Given the description of an element on the screen output the (x, y) to click on. 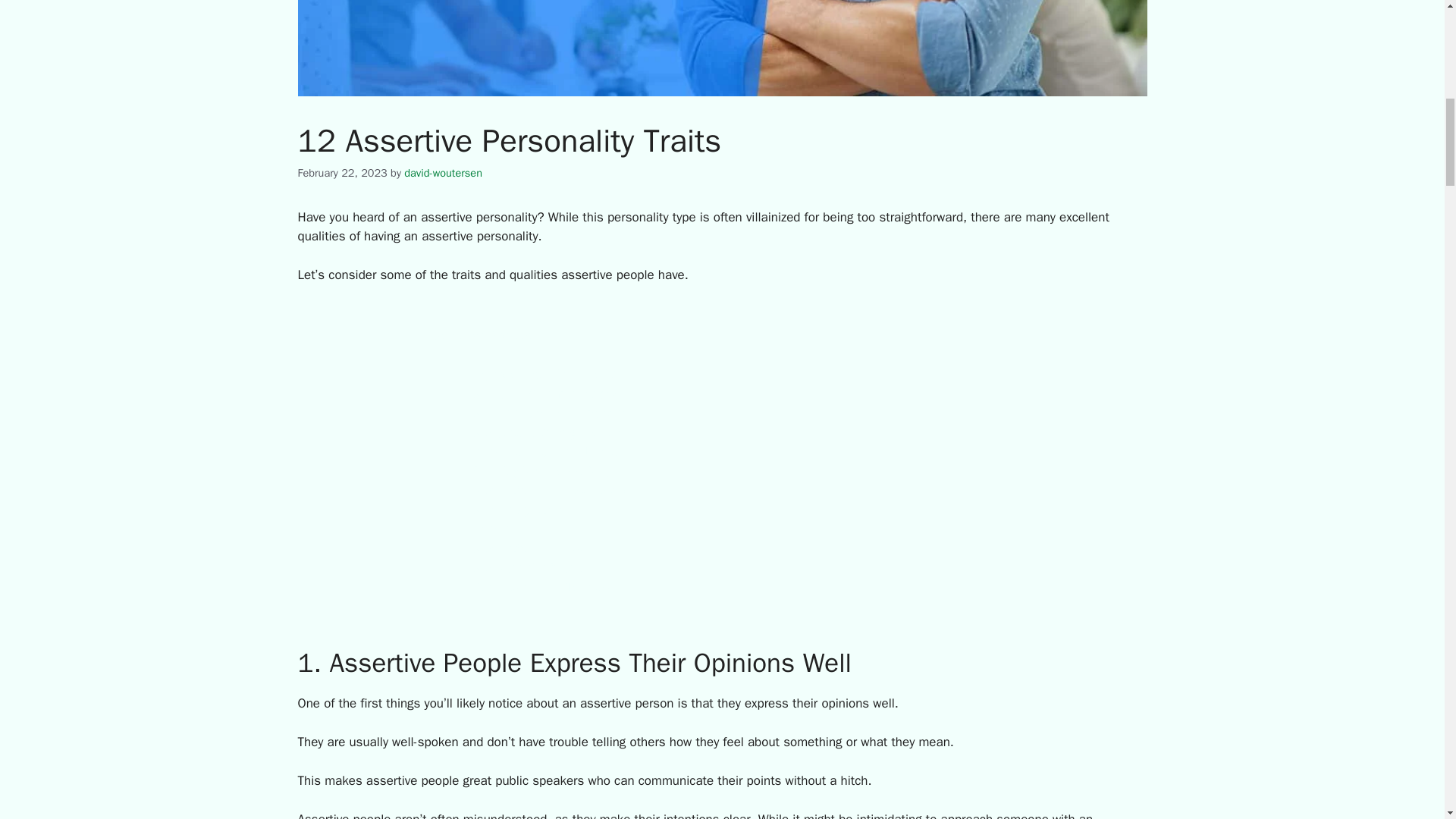
Know How To Draw Limits (545, 451)
Are Usually Strong Leaders (548, 432)
Speak Up (500, 528)
Can Say No Respectfully (541, 471)
Are More Confident (526, 567)
david-woutersen (442, 172)
View all posts by david-woutersen (442, 172)
Are Good Communicators (544, 393)
Express Their Opinions Well (550, 374)
Are Emotionally Independent (553, 412)
